Given the description of an element on the screen output the (x, y) to click on. 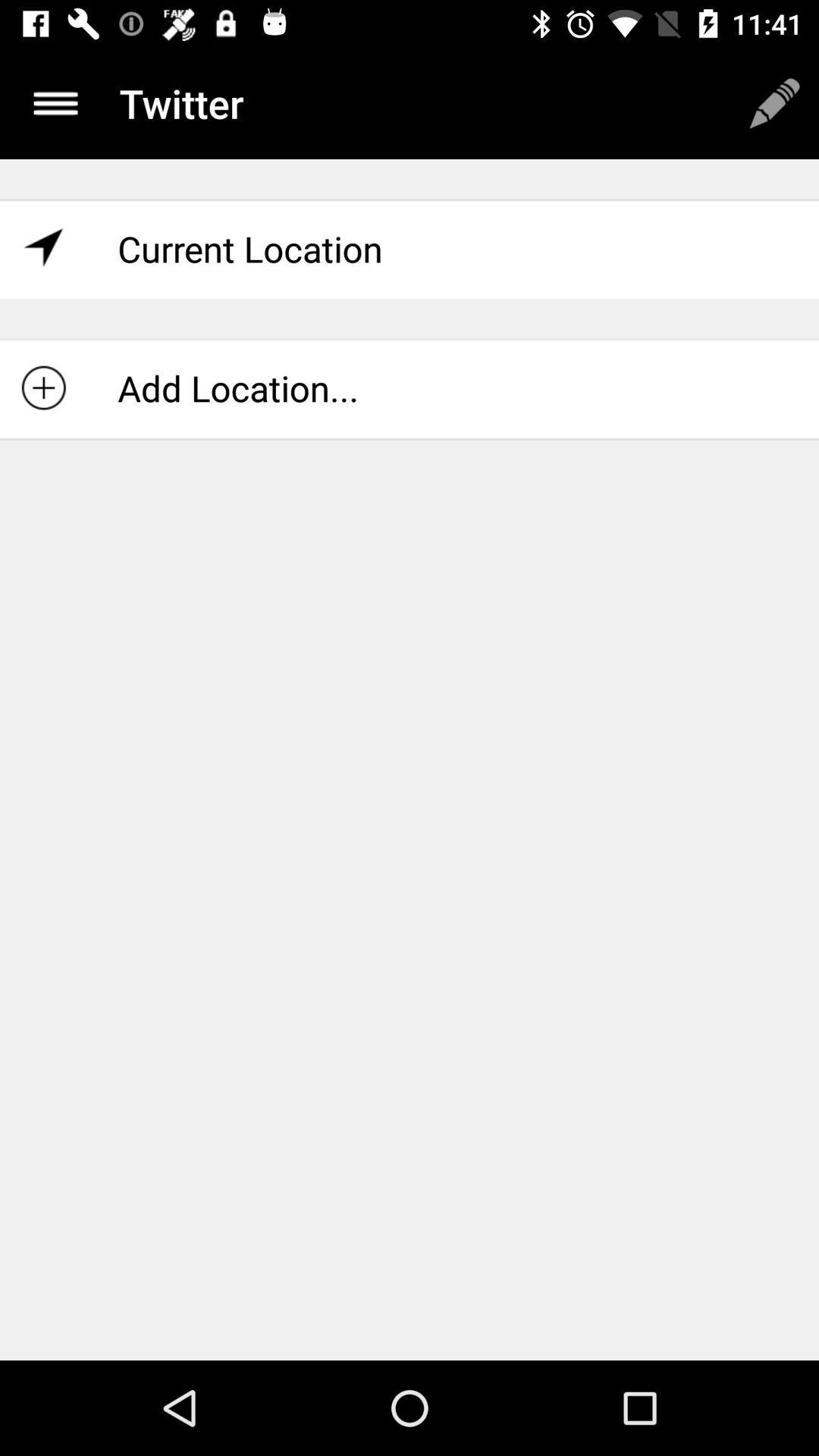
launch the icon above current location item (774, 103)
